Given the description of an element on the screen output the (x, y) to click on. 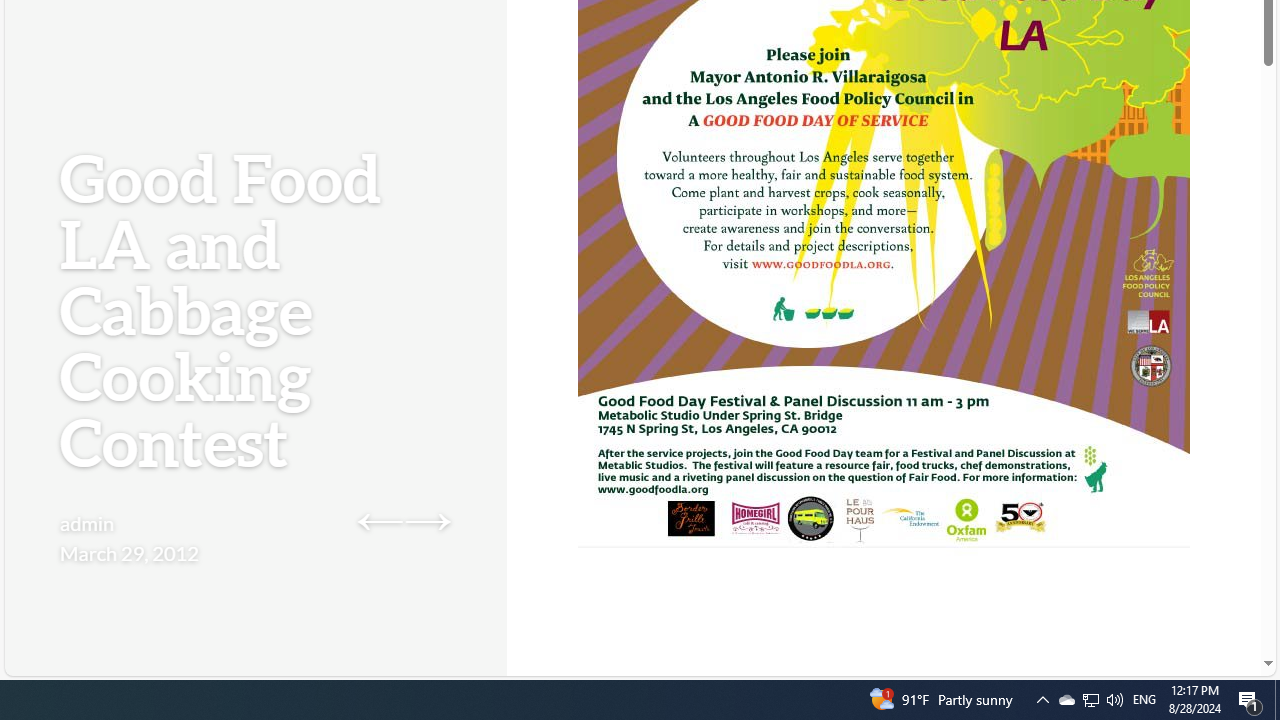
admin (87, 522)
March 29, 2012 (129, 552)
